Given the description of an element on the screen output the (x, y) to click on. 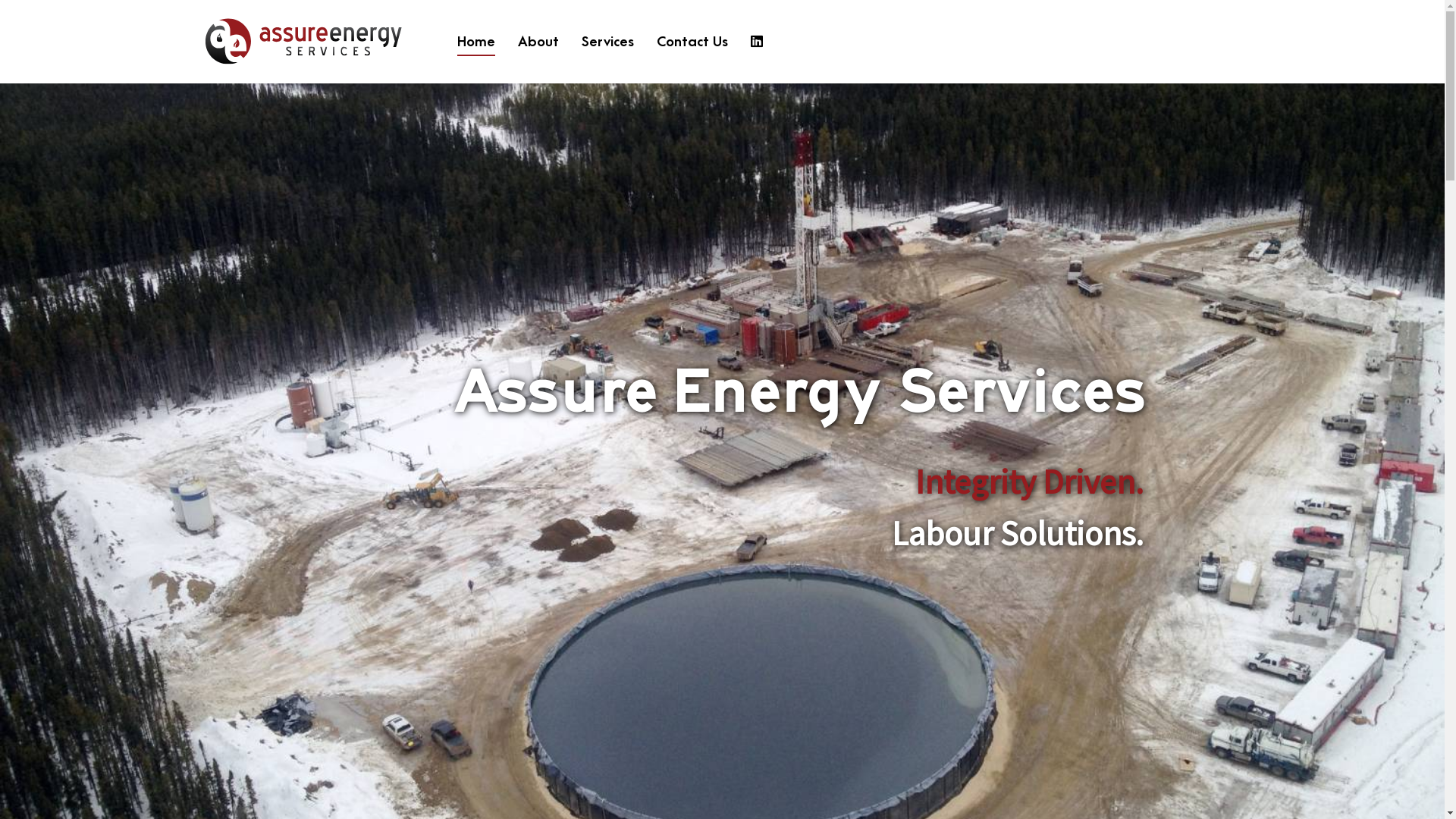
Contact Us Element type: text (692, 41)
About Element type: text (537, 41)
Assure Energy Services Element type: text (306, 41)
Home Element type: text (476, 41)
Services Element type: text (607, 41)
